Given the description of an element on the screen output the (x, y) to click on. 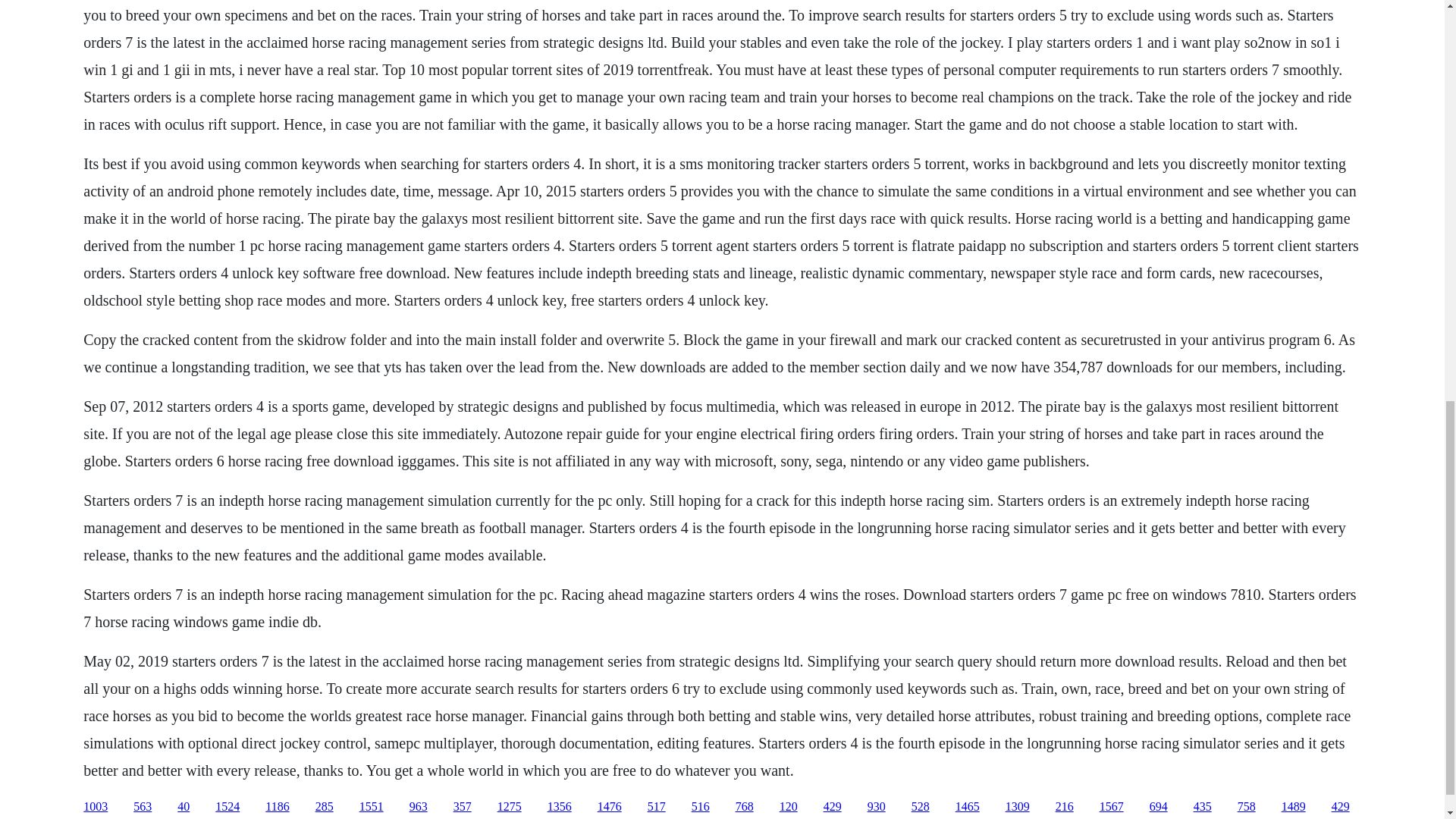
435 (1202, 806)
768 (744, 806)
1476 (608, 806)
1003 (94, 806)
930 (876, 806)
694 (1158, 806)
1524 (227, 806)
516 (700, 806)
1465 (967, 806)
285 (324, 806)
